Given the description of an element on the screen output the (x, y) to click on. 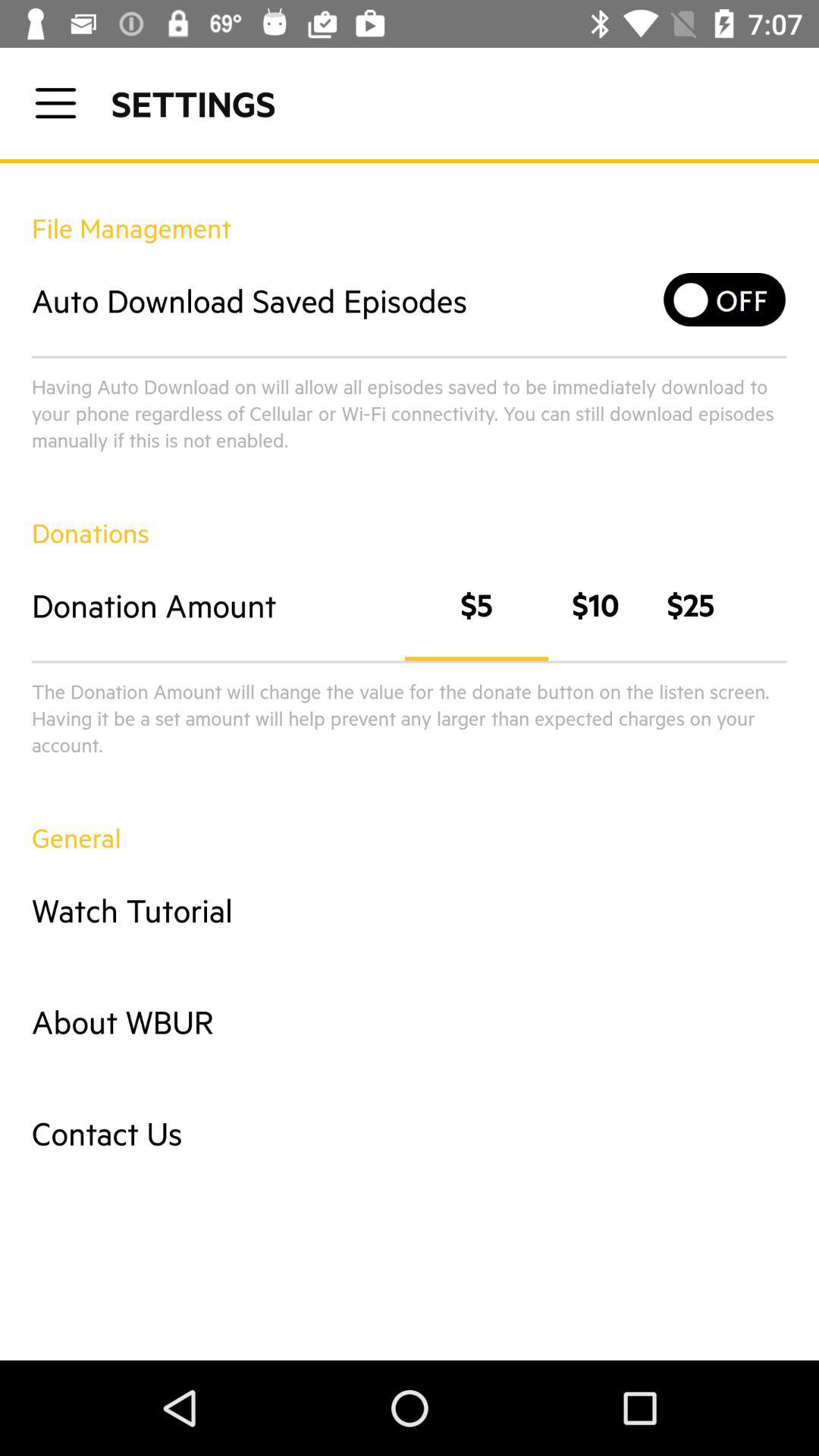
open menu (55, 103)
